Given the description of an element on the screen output the (x, y) to click on. 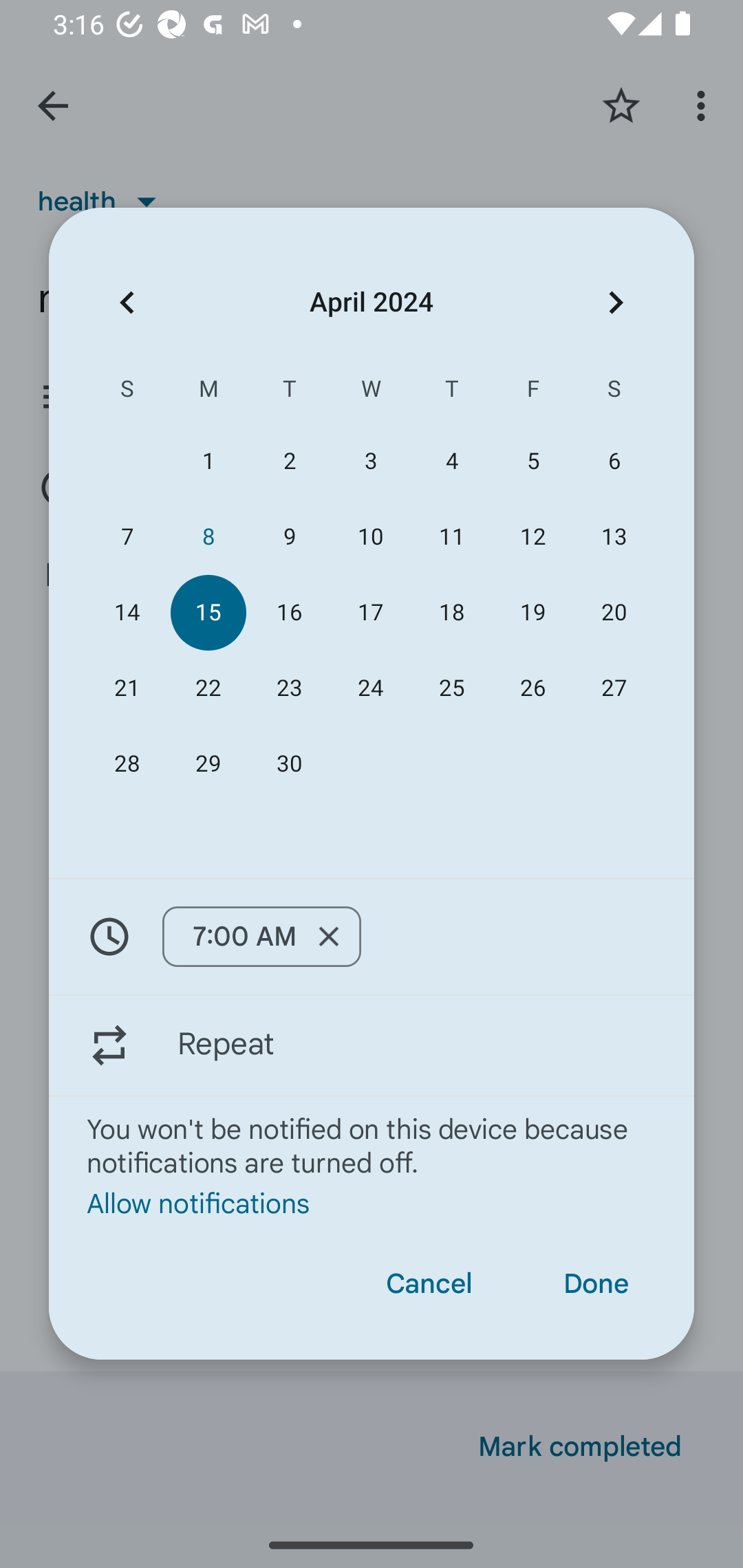
Previous month (126, 302)
Next month (615, 302)
1 01 April 2024 (207, 460)
2 02 April 2024 (288, 460)
3 03 April 2024 (370, 460)
4 04 April 2024 (451, 460)
5 05 April 2024 (532, 460)
6 06 April 2024 (613, 460)
7 07 April 2024 (126, 536)
8 08 April 2024 (207, 536)
9 09 April 2024 (288, 536)
10 10 April 2024 (370, 536)
11 11 April 2024 (451, 536)
12 12 April 2024 (532, 536)
13 13 April 2024 (613, 536)
14 14 April 2024 (126, 612)
15 15 April 2024 (207, 612)
16 16 April 2024 (288, 612)
17 17 April 2024 (370, 612)
18 18 April 2024 (451, 612)
19 19 April 2024 (532, 612)
20 20 April 2024 (613, 612)
21 21 April 2024 (126, 687)
22 22 April 2024 (207, 687)
23 23 April 2024 (288, 687)
24 24 April 2024 (370, 687)
25 25 April 2024 (451, 687)
26 26 April 2024 (532, 687)
27 27 April 2024 (613, 687)
28 28 April 2024 (126, 763)
29 29 April 2024 (207, 763)
30 30 April 2024 (288, 763)
7:00 AM Remove 7:00 AM (371, 936)
7:00 AM Remove 7:00 AM (261, 935)
Repeat (371, 1044)
Allow notifications (371, 1202)
Cancel (429, 1283)
Done (595, 1283)
